Given the description of an element on the screen output the (x, y) to click on. 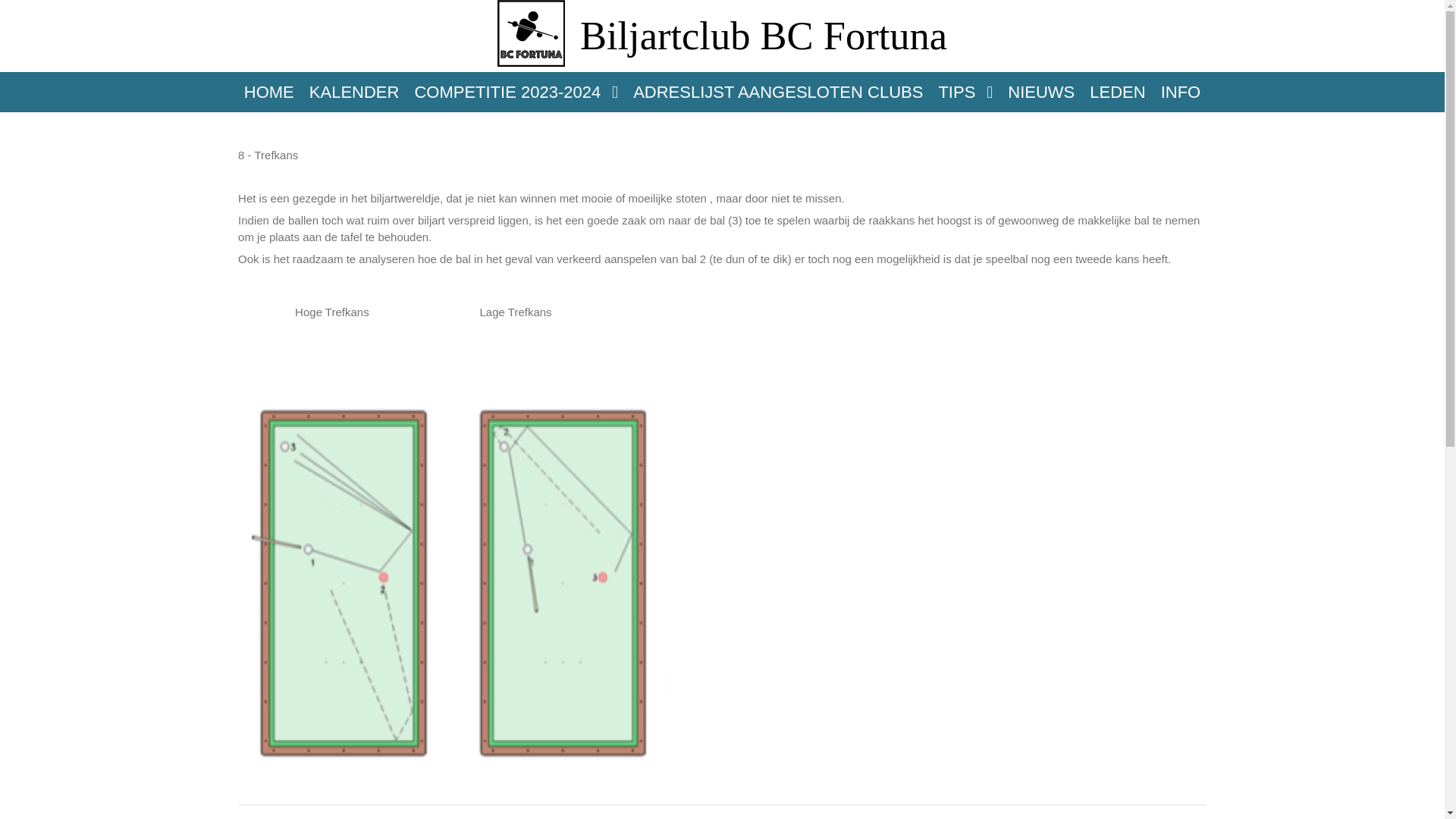
ADRESLIJST AANGESLOTEN CLUBS Element type: text (777, 91)
Biljartclub BC Fortuna Element type: text (763, 40)
NIEUWS Element type: text (1041, 91)
LEDEN Element type: text (1117, 91)
BC Fortuna Element type: hover (530, 33)
HOME Element type: text (268, 91)
INFO Element type: text (1180, 91)
KALENDER Element type: text (354, 91)
TIPS Element type: text (965, 91)
COMPETITIE 2023-2024 Element type: text (515, 91)
